Given the description of an element on the screen output the (x, y) to click on. 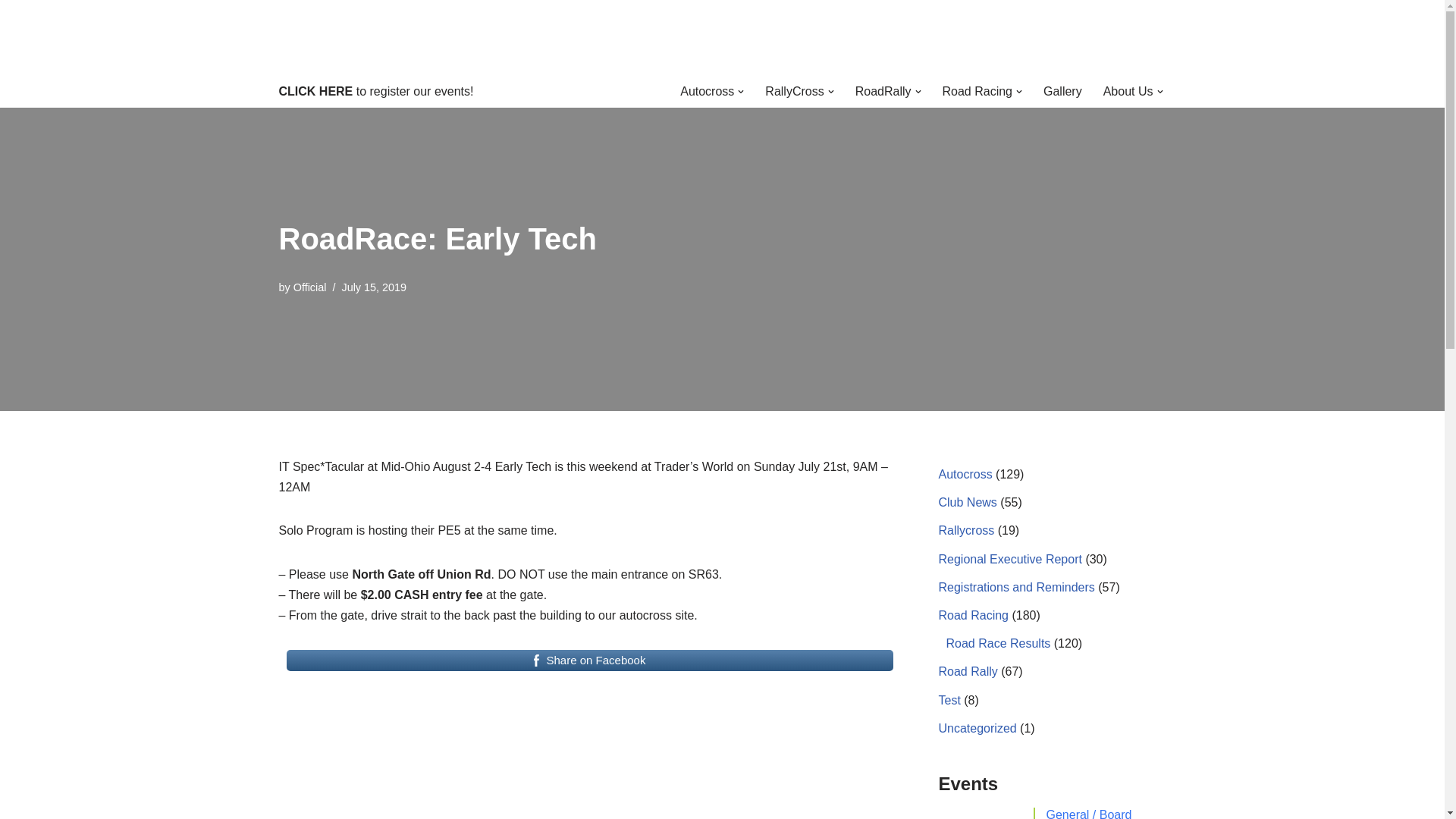
Road Racing (976, 91)
Skip to content (11, 31)
RoadRally (883, 91)
About Us (1128, 91)
Gallery (1062, 91)
CLICK HERE (316, 91)
RallyCross (794, 91)
Autocross (706, 91)
Posts by Official (310, 287)
